Given the description of an element on the screen output the (x, y) to click on. 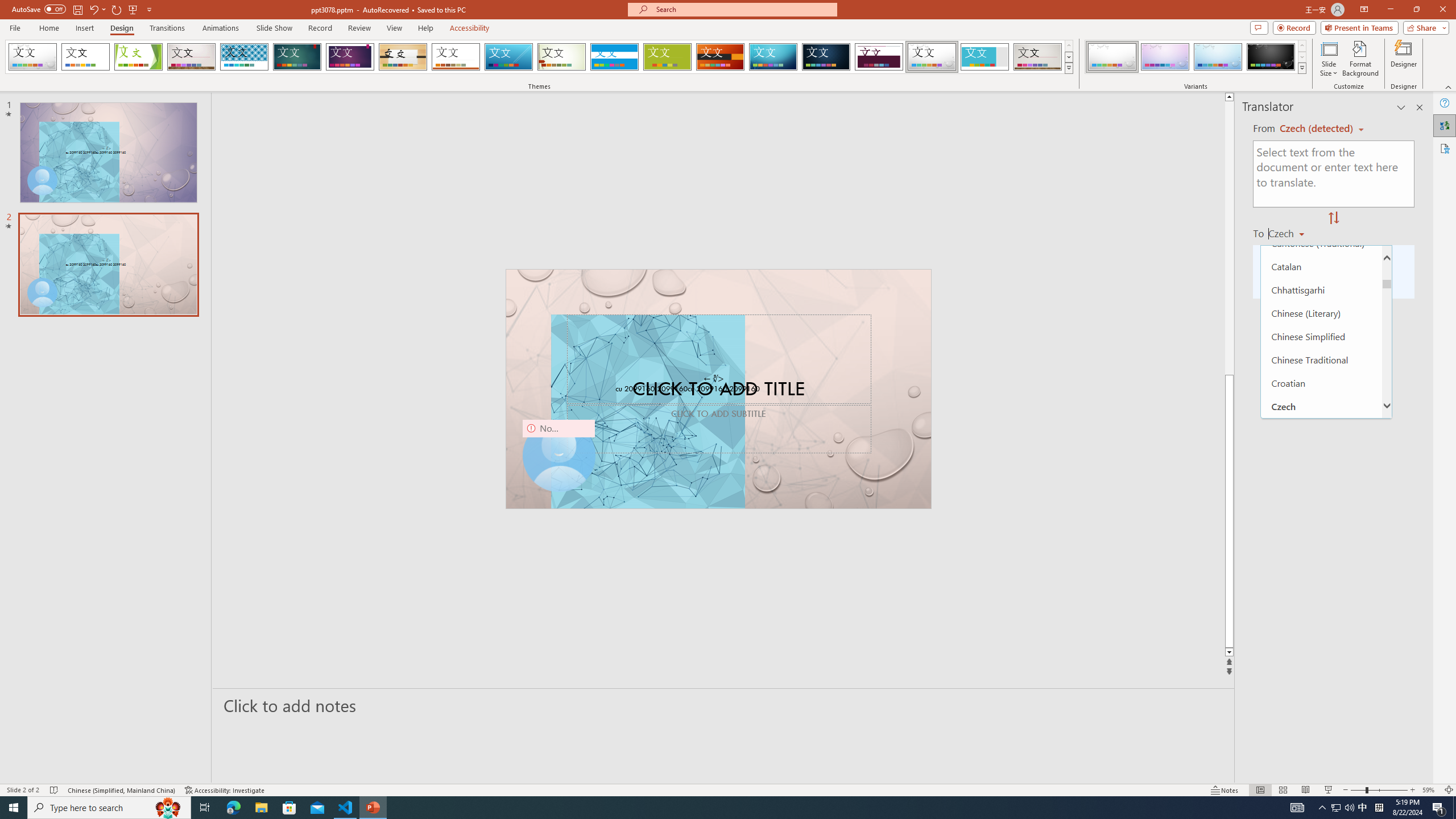
Subtitle TextBox (718, 428)
Finnish (1320, 662)
Cantonese (Traditional) (1320, 242)
Chhattisgarhi (1320, 289)
Fijian (1320, 615)
Basis (667, 56)
Ion (296, 56)
Damask (826, 56)
Droplet Variant 3 (1217, 56)
Bhojpuri (1320, 149)
